Given the description of an element on the screen output the (x, y) to click on. 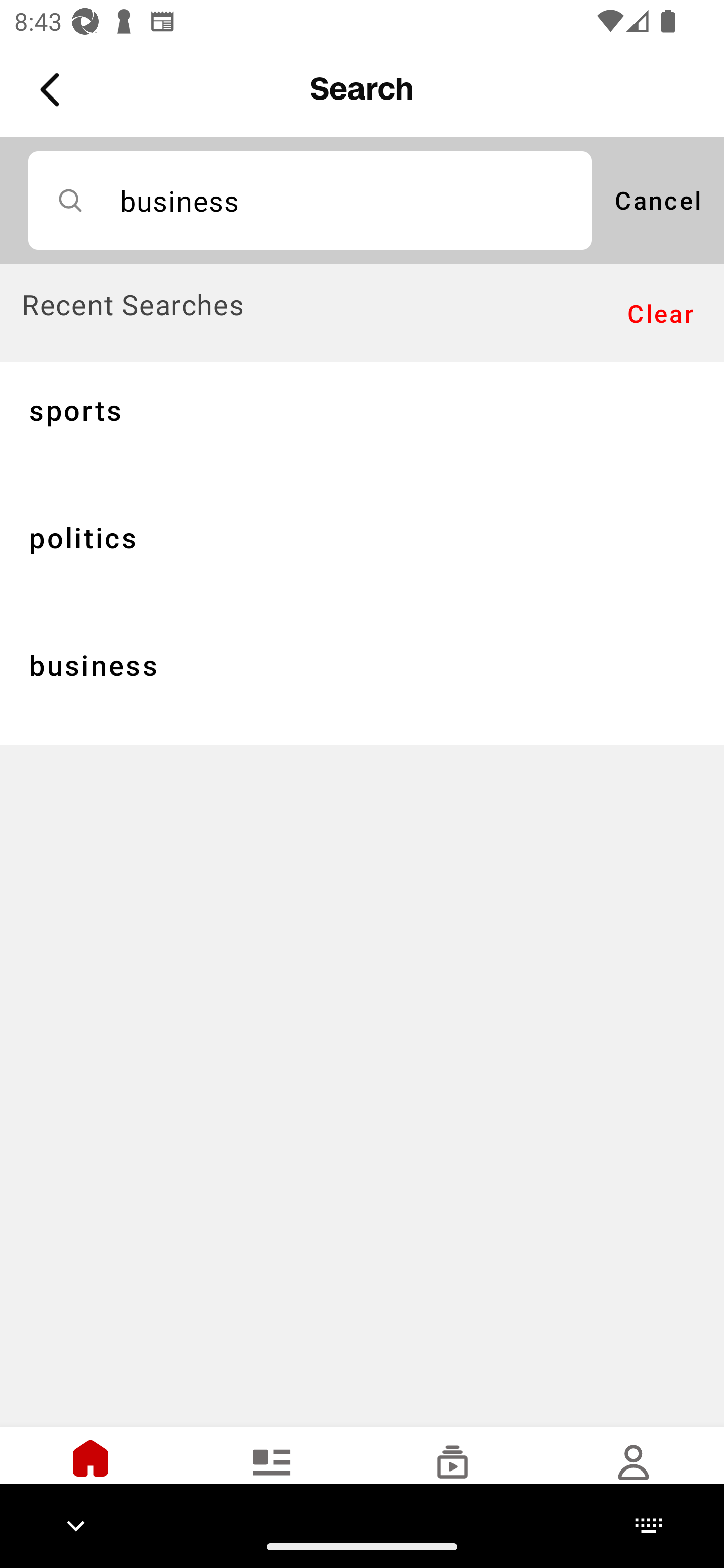
Back Button (52, 89)
Cancel (657, 199)
business (309, 199)
Clear (660, 313)
sports
 (362, 425)
politics
 (362, 553)
business
 (362, 680)
Elections (271, 1475)
Watch (452, 1475)
Settings (633, 1475)
